Given the description of an element on the screen output the (x, y) to click on. 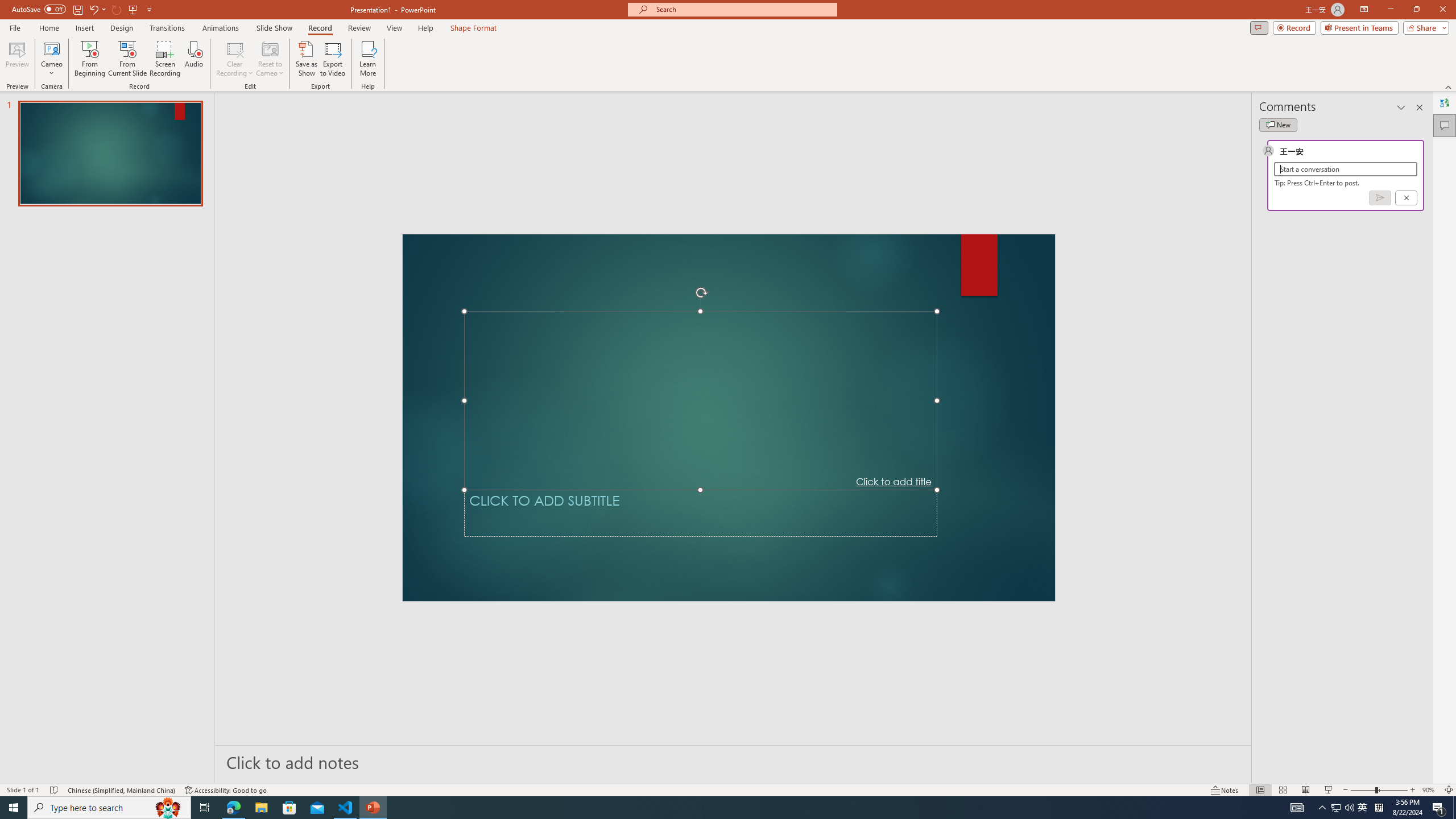
New comment (1278, 124)
